Given the description of an element on the screen output the (x, y) to click on. 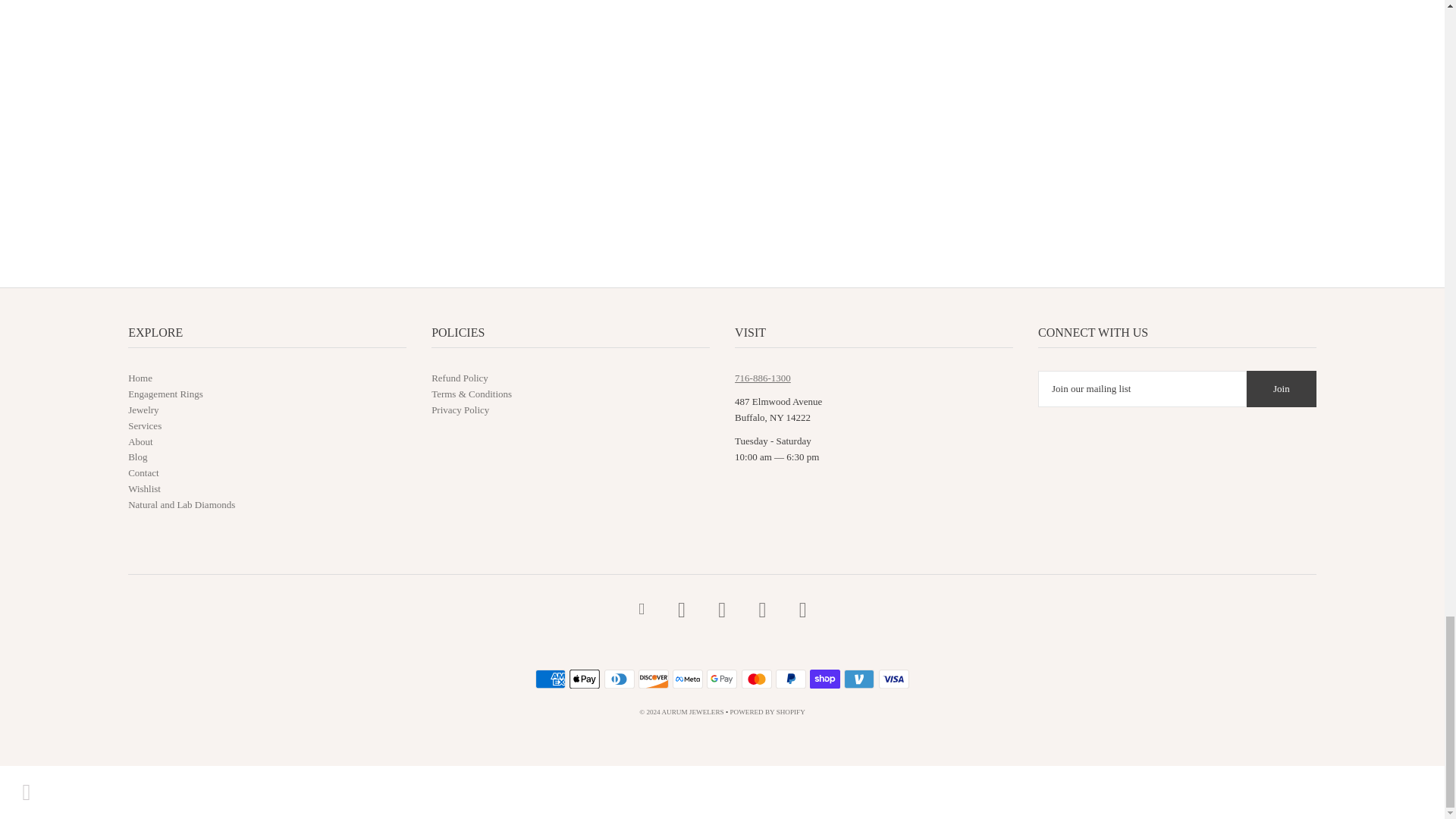
Apple Pay (584, 678)
Shop Pay (824, 678)
American Express (550, 678)
Visa (893, 678)
Diners Club (619, 678)
Mastercard (756, 678)
Discover (653, 678)
Join (1281, 389)
Venmo (859, 678)
Google Pay (721, 678)
tel: 7168861300 (762, 378)
Meta Pay (687, 678)
PayPal (791, 678)
